Given the description of an element on the screen output the (x, y) to click on. 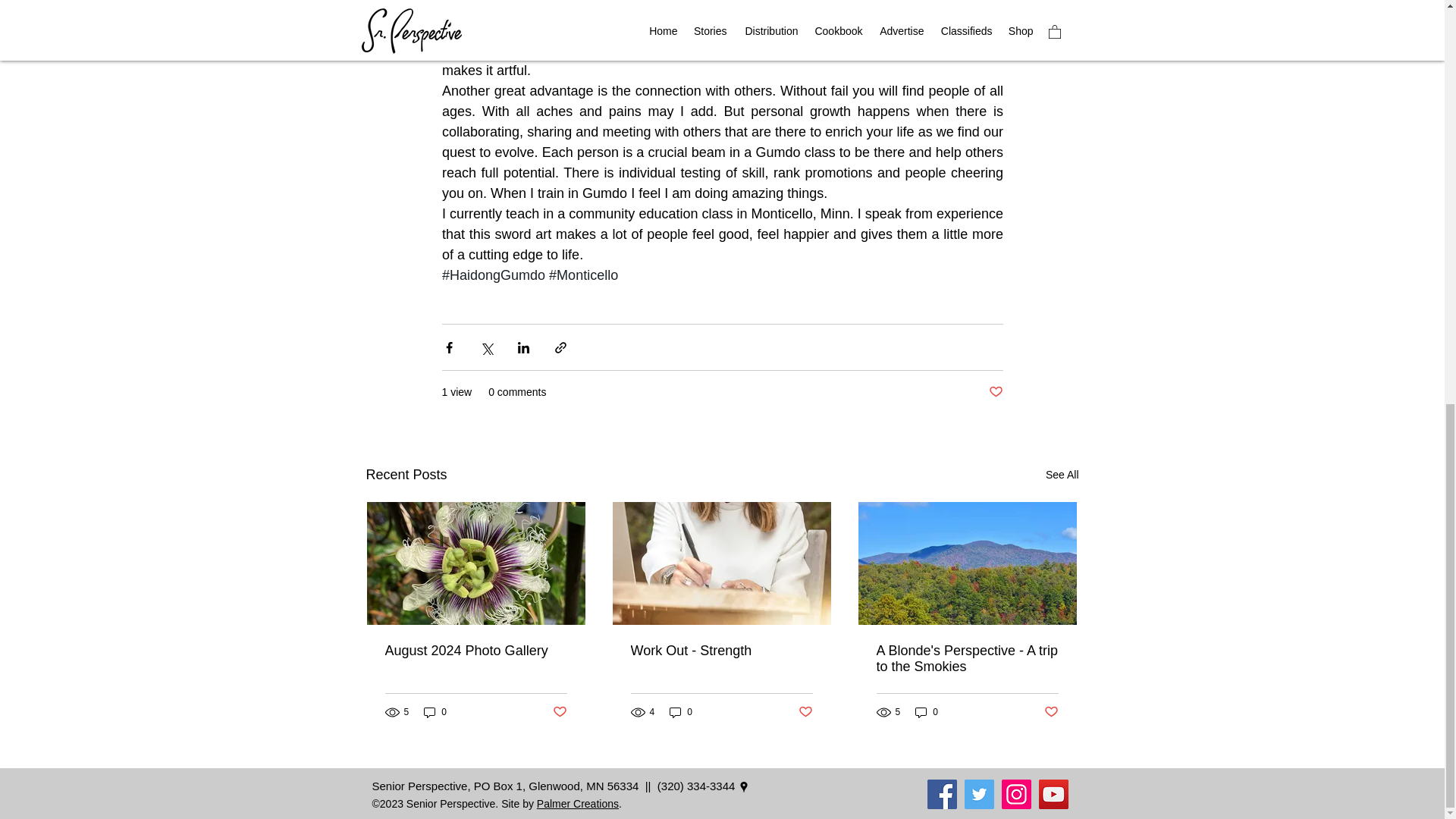
0 (926, 712)
A Blonde's Perspective - A trip to the Smokies (967, 658)
0 (681, 712)
Post not marked as liked (558, 712)
August 2024 Photo Gallery (476, 650)
Work Out - Strength (721, 650)
See All (1061, 475)
Post not marked as liked (804, 712)
Post not marked as liked (995, 392)
0 (435, 712)
